Given the description of an element on the screen output the (x, y) to click on. 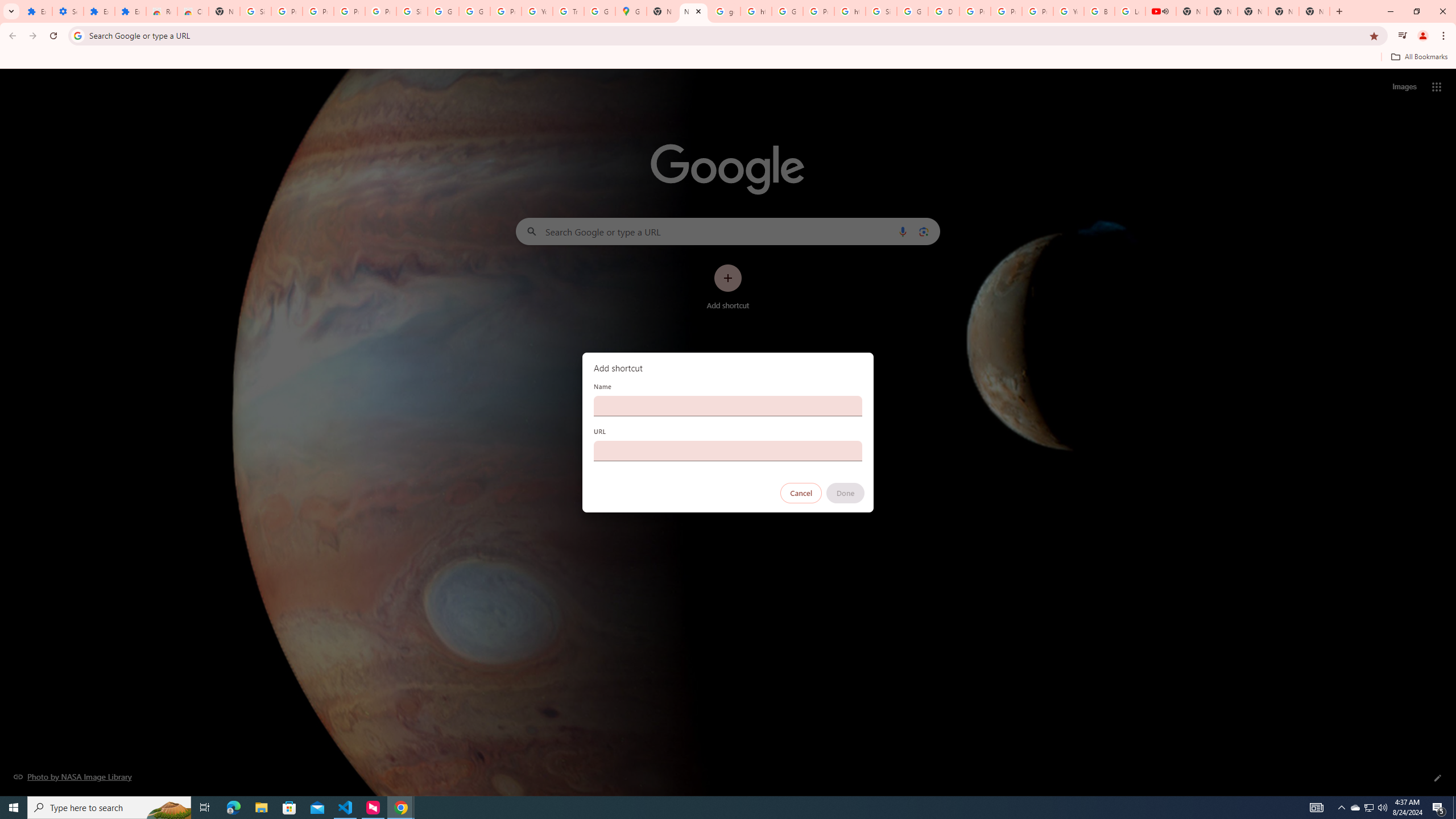
URL (727, 450)
Privacy Help Center - Policies Help (974, 11)
Sign in - Google Accounts (255, 11)
Chrome Web Store - Themes (192, 11)
Extensions (36, 11)
